Given the description of an element on the screen output the (x, y) to click on. 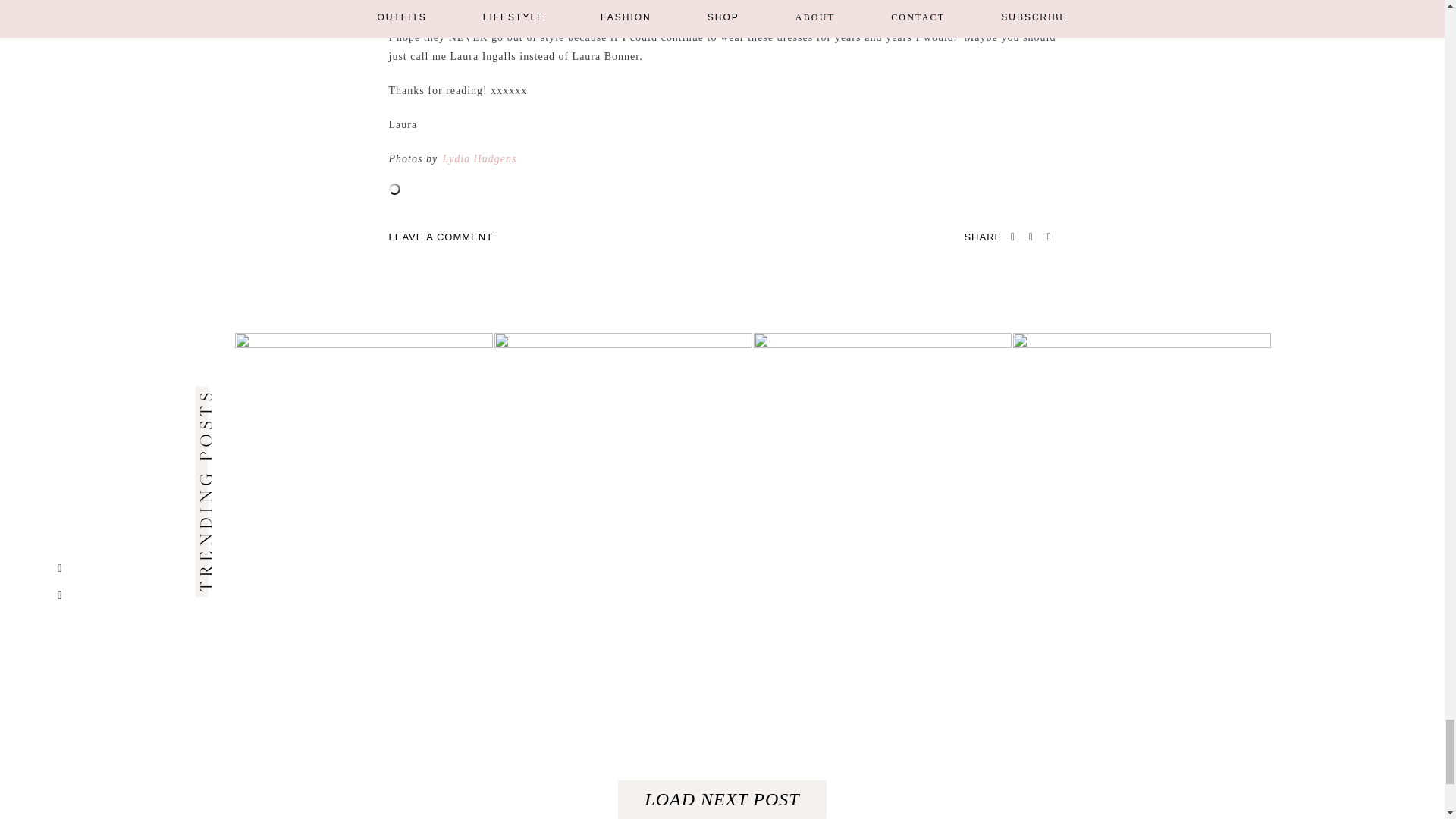
LOAD NEXT POST (721, 799)
Lydia Hudgens (479, 158)
LEAVE A COMMENT (440, 236)
